Given the description of an element on the screen output the (x, y) to click on. 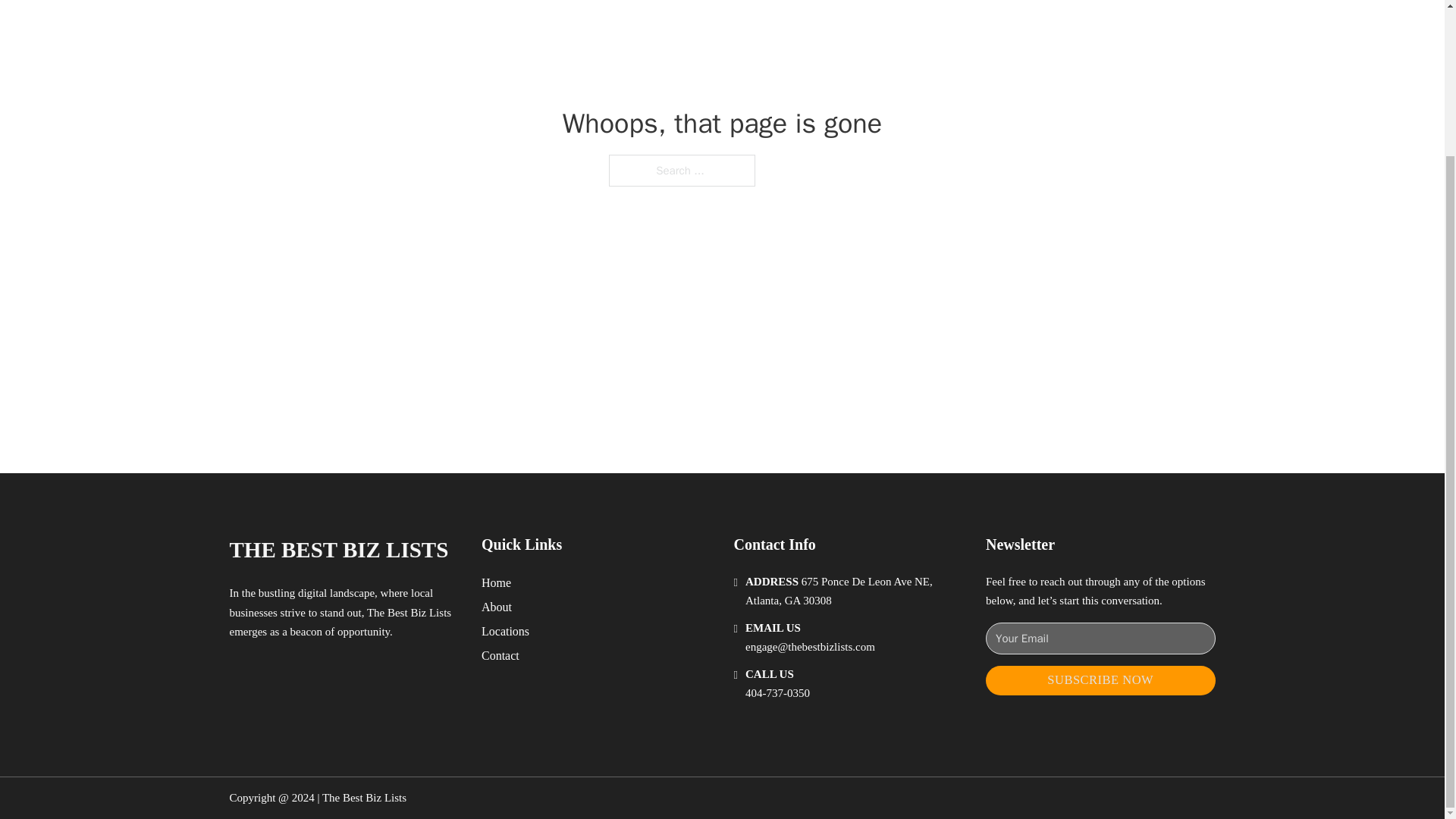
404-737-0350 (777, 693)
Home (496, 582)
SUBSCRIBE NOW (1100, 680)
Contact (500, 655)
About (496, 607)
Locations (505, 630)
THE BEST BIZ LISTS (338, 549)
